Given the description of an element on the screen output the (x, y) to click on. 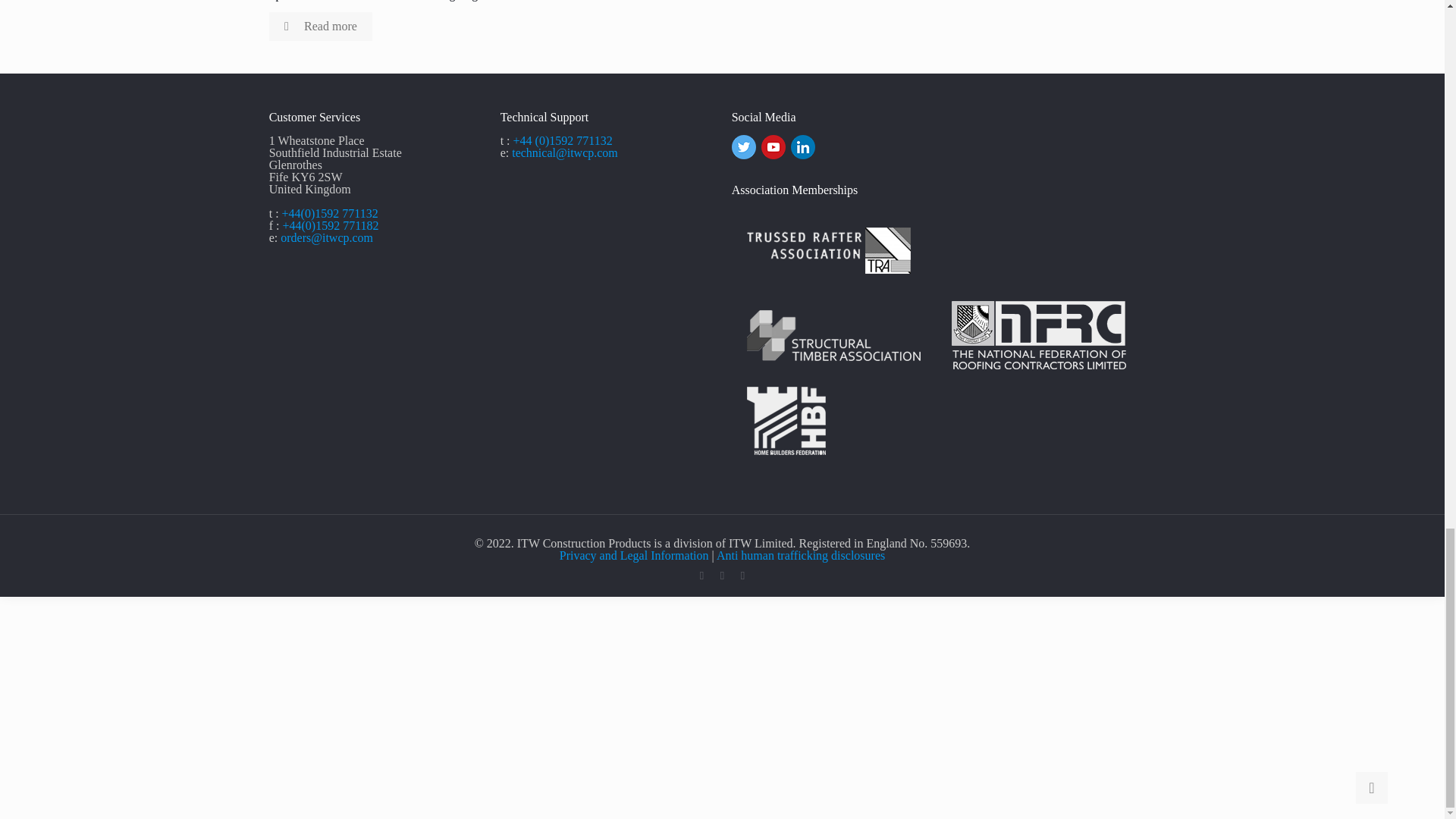
LinkedIn (743, 575)
YouTube (722, 575)
Twitter (702, 575)
